Given the description of an element on the screen output the (x, y) to click on. 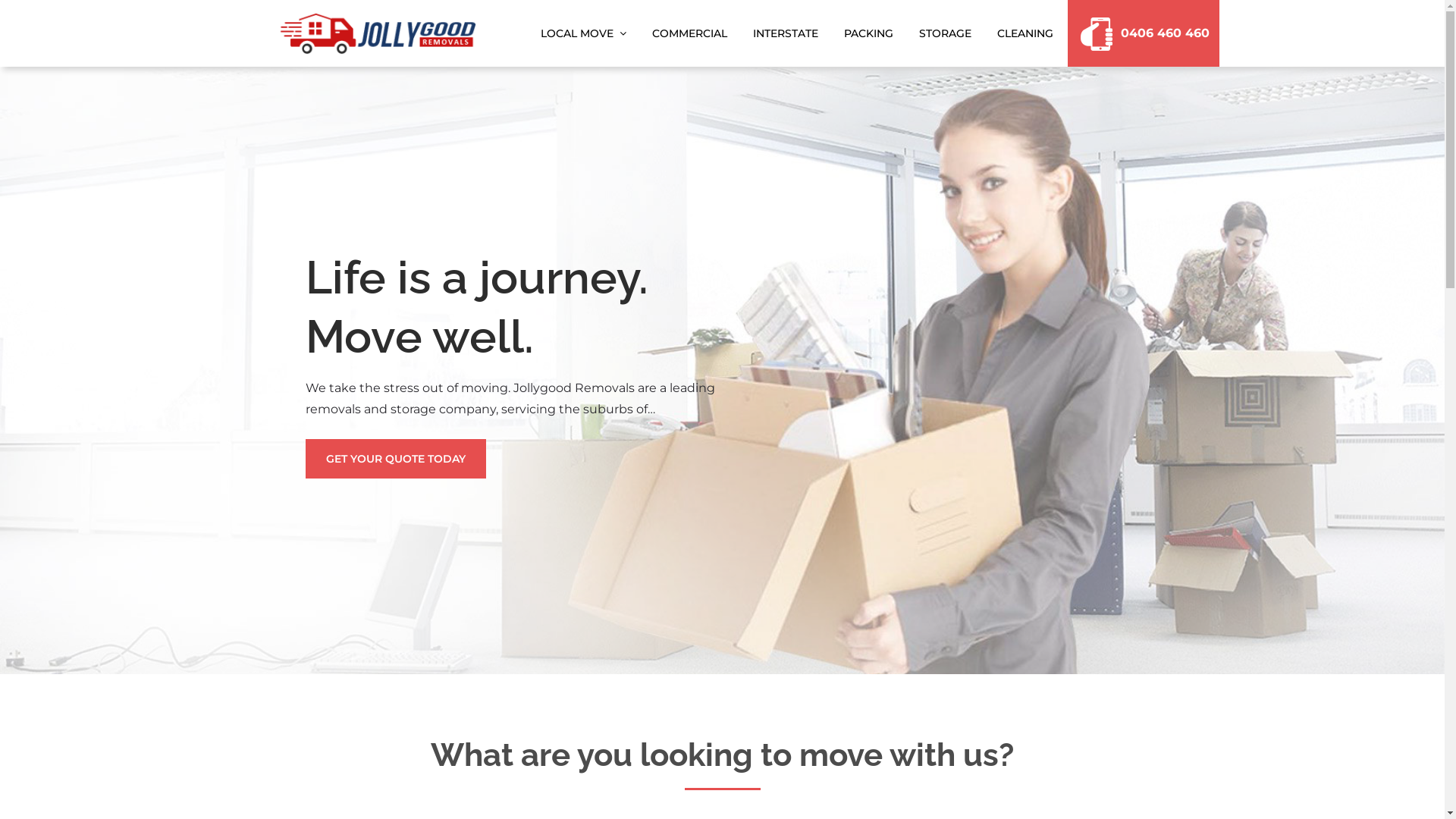
JOLLYGOOD REMOVALISTS Element type: text (656, 48)
LOCAL MOVE Element type: text (583, 33)
CLEANING Element type: text (1024, 33)
STORAGE Element type: text (944, 33)
PACKING Element type: text (868, 33)
INTERSTATE Element type: text (785, 33)
COMMERCIAL Element type: text (688, 33)
0406460460 Element type: text (1138, 33)
GET YOUR QUOTE TODAY Element type: text (394, 458)
